Given the description of an element on the screen output the (x, y) to click on. 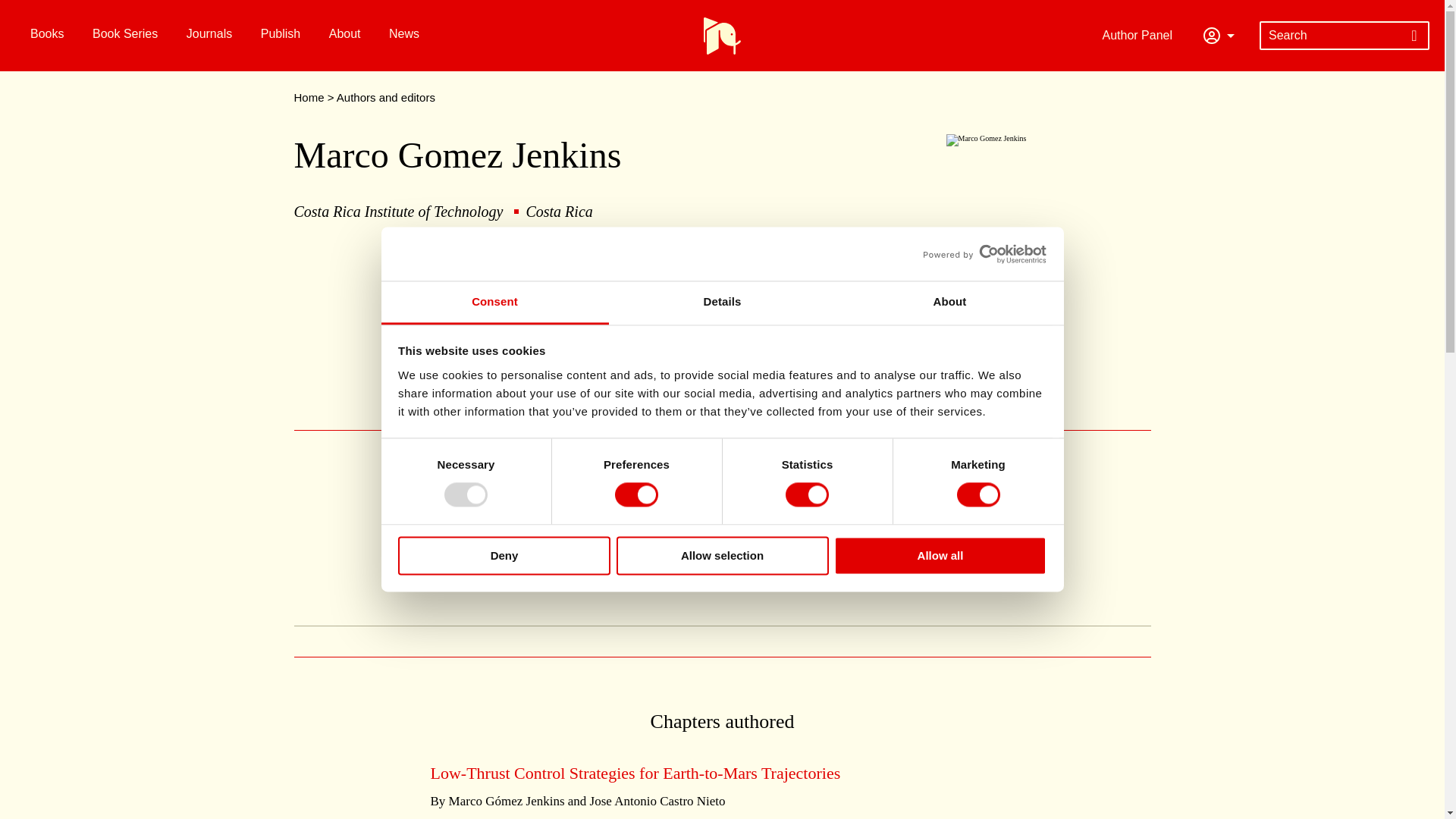
Consent (494, 302)
About (948, 302)
Details (721, 302)
